Given the description of an element on the screen output the (x, y) to click on. 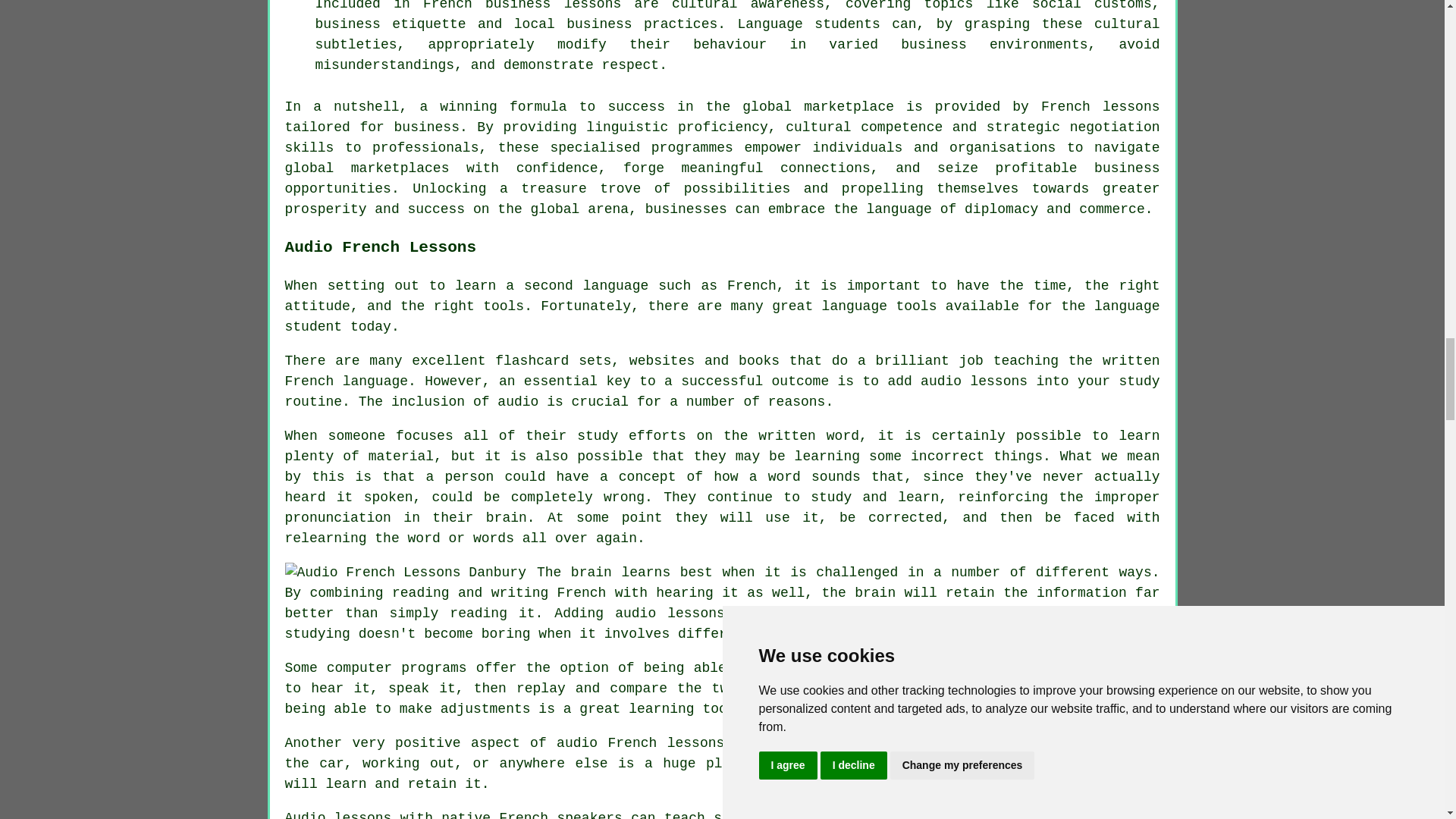
language (898, 209)
Audio French Lessons Danbury (405, 572)
